Given the description of an element on the screen output the (x, y) to click on. 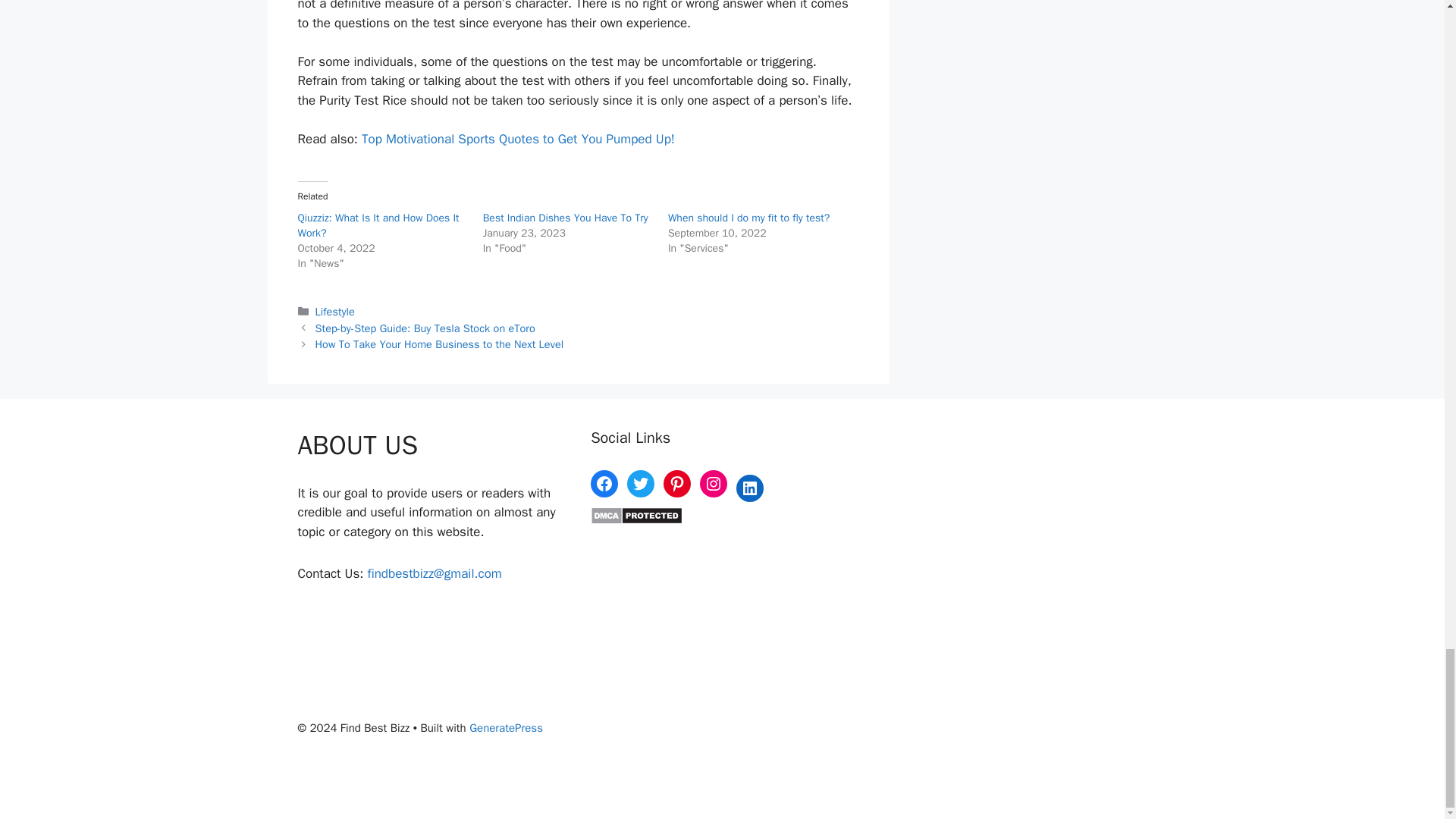
How To Take Your Home Business to the Next Level (439, 344)
Top Motivational Sports Quotes to Get You Pumped Up! (518, 139)
Step-by-Step Guide: Buy Tesla Stock on eToro (425, 327)
Best Indian Dishes You Have To Try (565, 217)
Best Indian Dishes You Have To Try (565, 217)
When should I do my fit to fly test? (748, 217)
DMCA.com Protection Status (636, 520)
Qiuzziz: What Is It and How Does It Work? (377, 225)
Qiuzziz: What Is It and How Does It Work? (377, 225)
Lifestyle (335, 311)
